Given the description of an element on the screen output the (x, y) to click on. 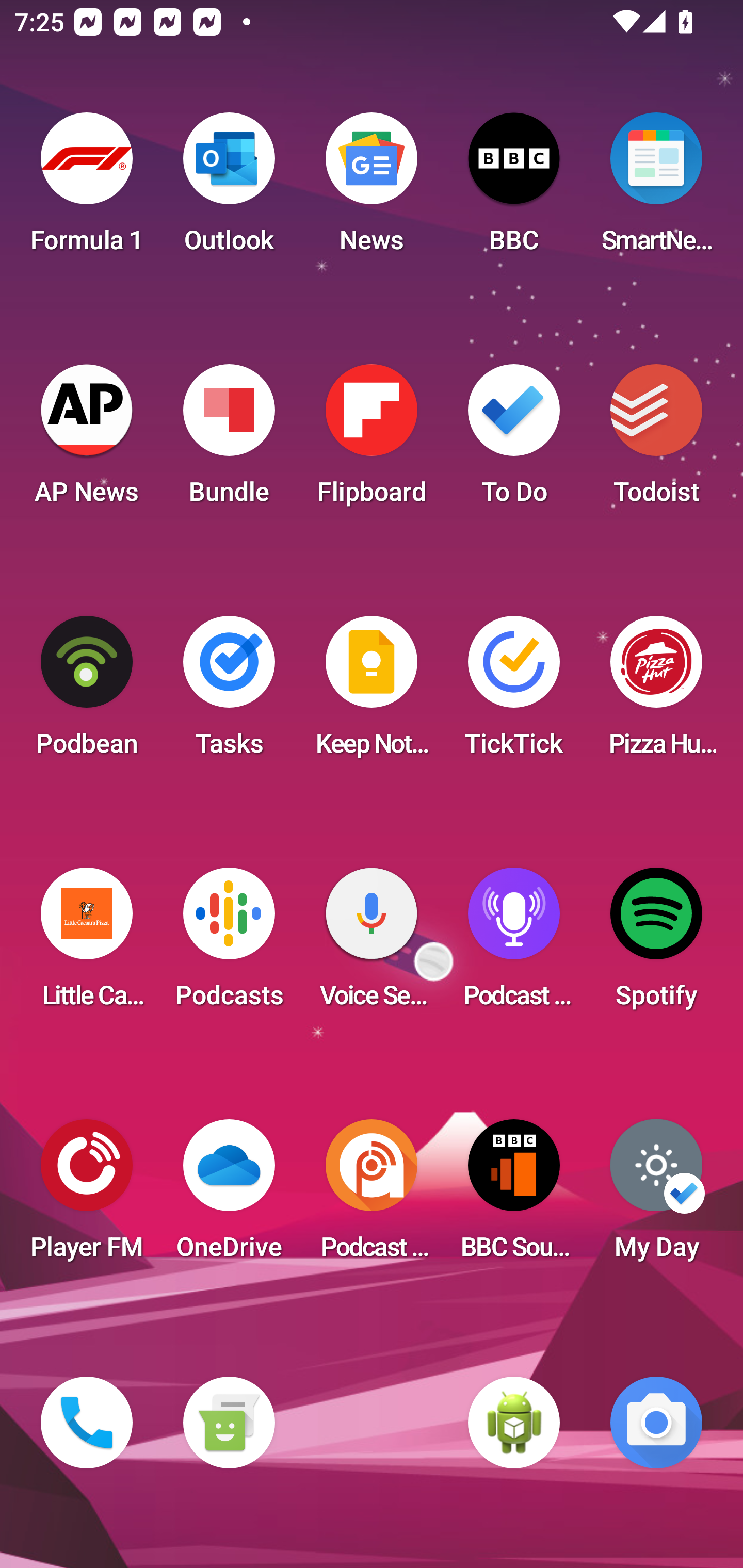
Formula 1 (86, 188)
Outlook (228, 188)
News (371, 188)
BBC (513, 188)
SmartNews (656, 188)
AP News (86, 440)
Bundle (228, 440)
Flipboard (371, 440)
To Do (513, 440)
Todoist (656, 440)
Podbean (86, 692)
Tasks (228, 692)
Keep Notes (371, 692)
TickTick (513, 692)
Pizza Hut HK & Macau (656, 692)
Little Caesars Pizza (86, 943)
Podcasts (228, 943)
Voice Search (371, 943)
Podcast Player (513, 943)
Spotify (656, 943)
Player FM (86, 1195)
OneDrive (228, 1195)
Podcast Addict (371, 1195)
BBC Sounds (513, 1195)
My Day (656, 1195)
Phone (86, 1422)
Messaging (228, 1422)
WebView Browser Tester (513, 1422)
Camera (656, 1422)
